Given the description of an element on the screen output the (x, y) to click on. 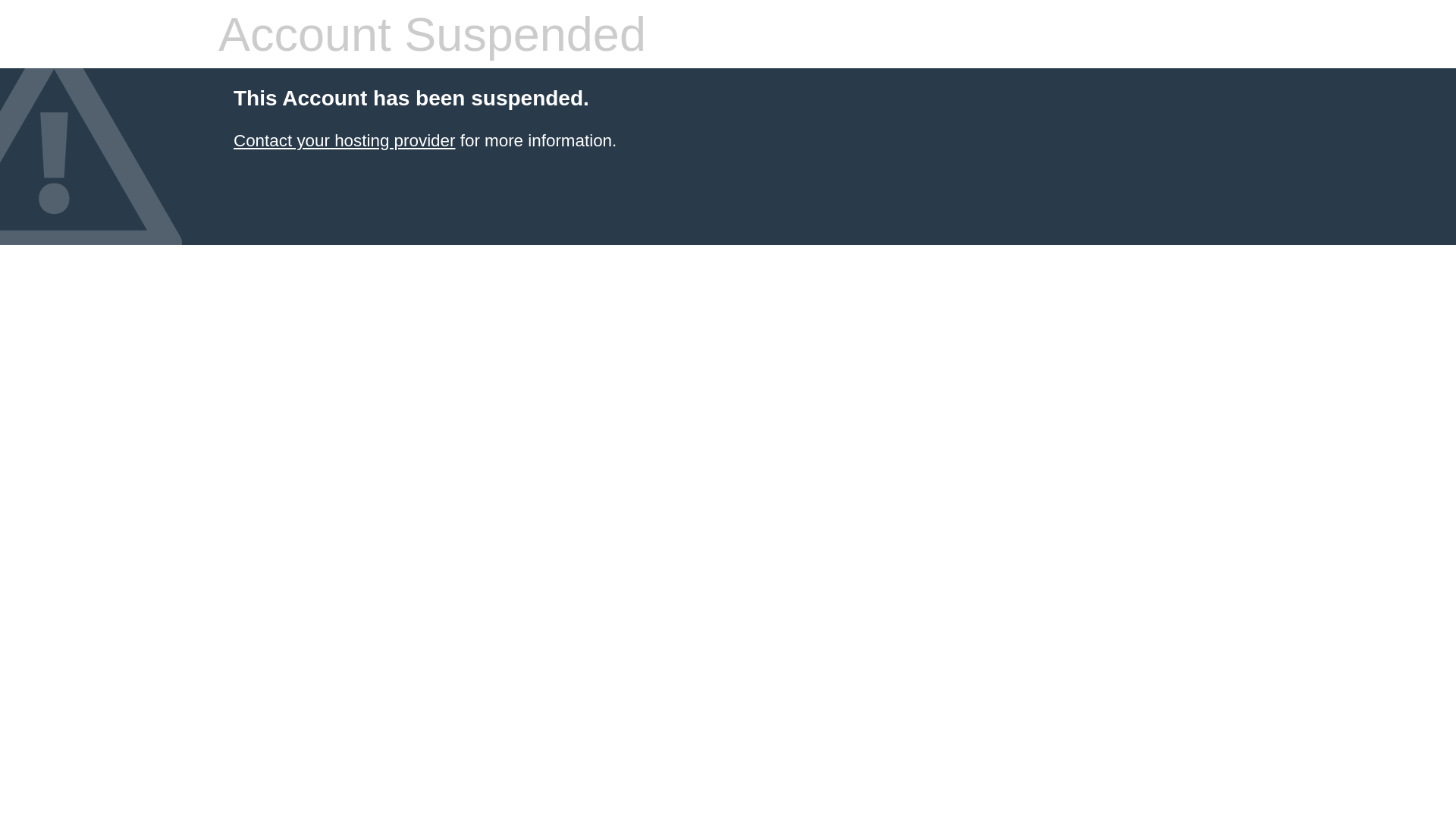
Contact your hosting provider Element type: text (344, 140)
